Given the description of an element on the screen output the (x, y) to click on. 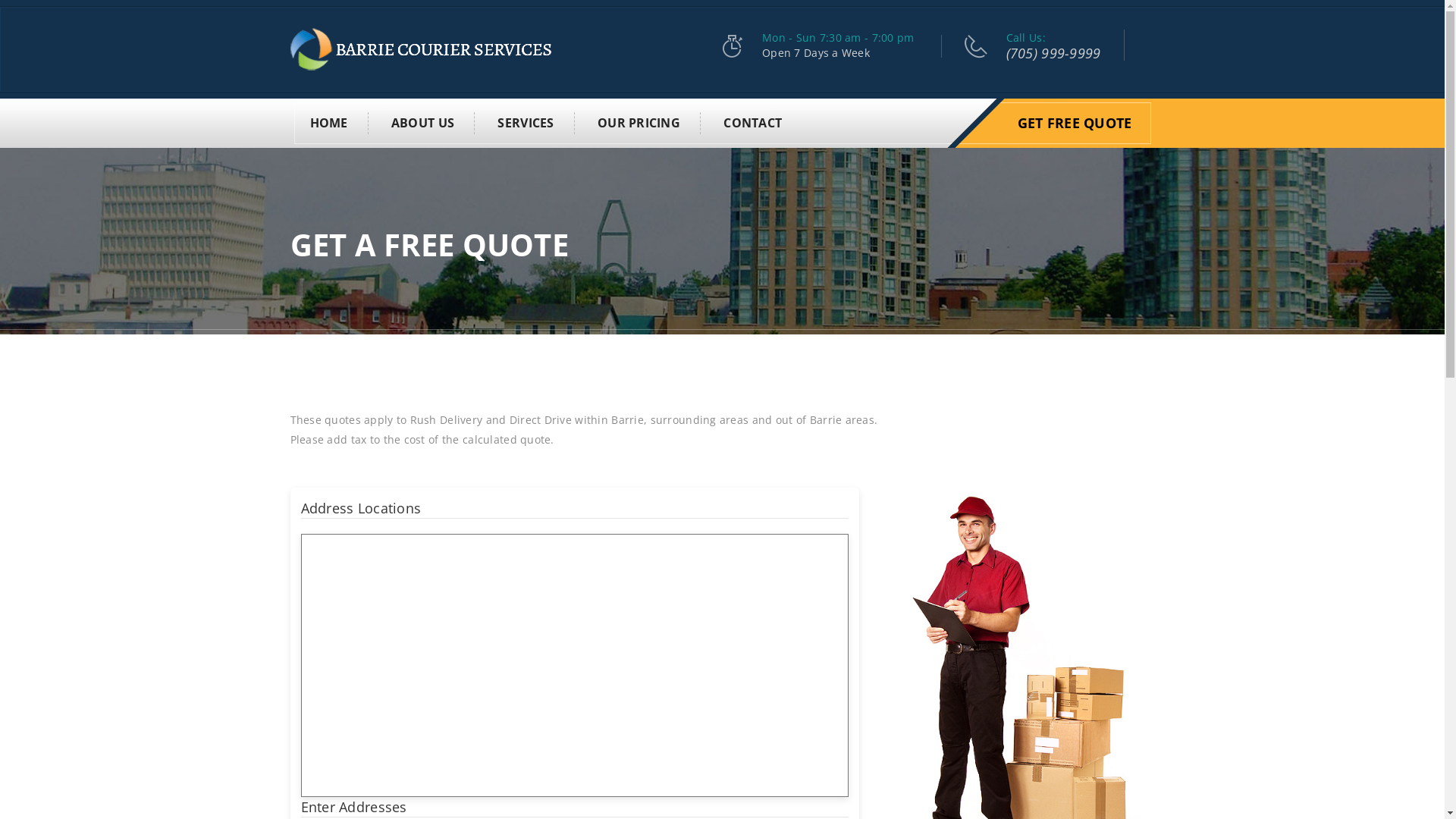
OUR PRICING Element type: text (638, 123)
(705) 999-9999 Element type: text (1053, 52)
ABOUT US Element type: text (422, 123)
GET FREE QUOTE Element type: text (1075, 122)
SERVICES Element type: text (525, 123)
HOME Element type: text (328, 123)
Go Element type: text (1104, 118)
CONTACT Element type: text (742, 123)
